Given the description of an element on the screen output the (x, y) to click on. 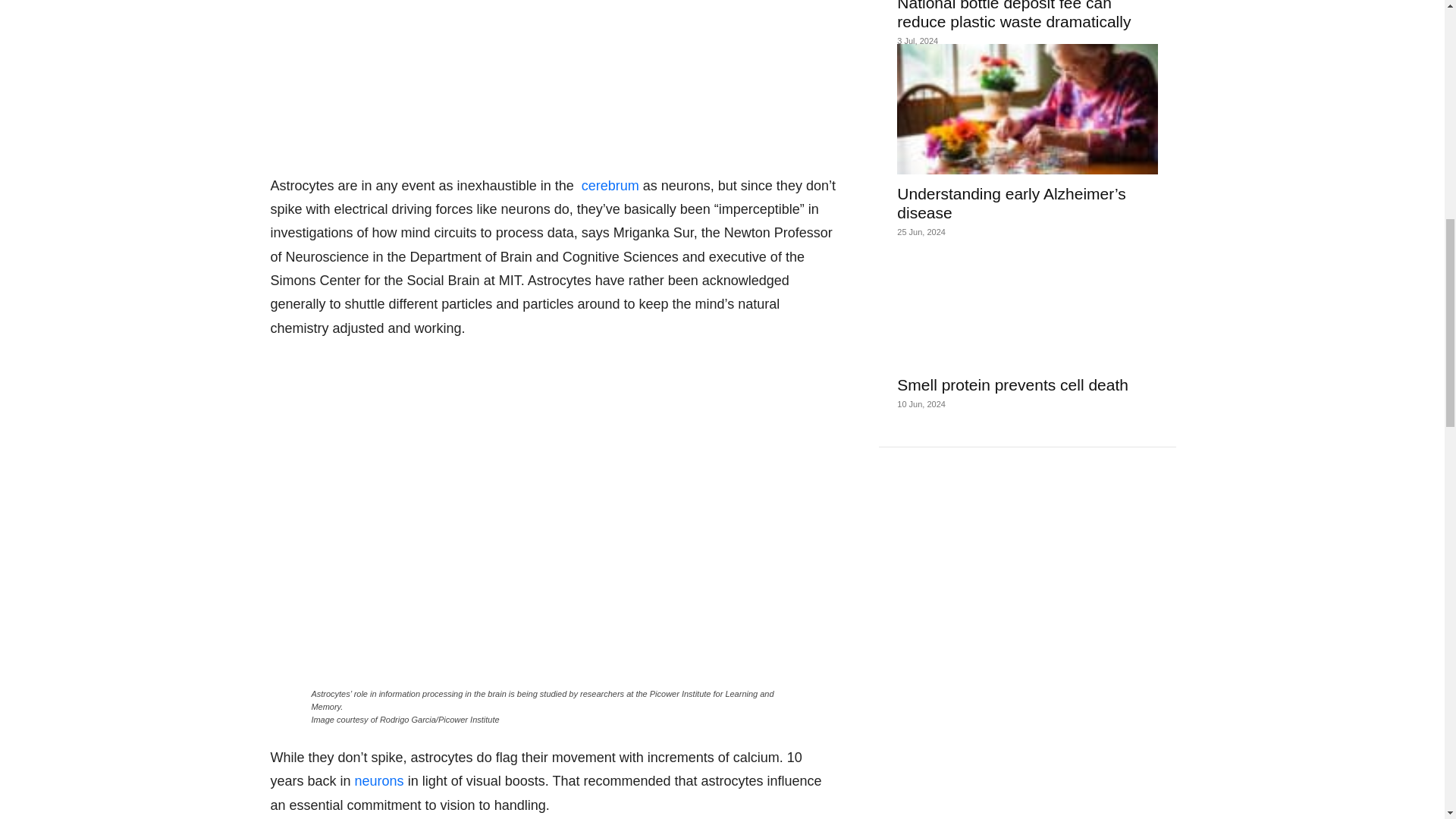
cerebrum (609, 185)
